Given the description of an element on the screen output the (x, y) to click on. 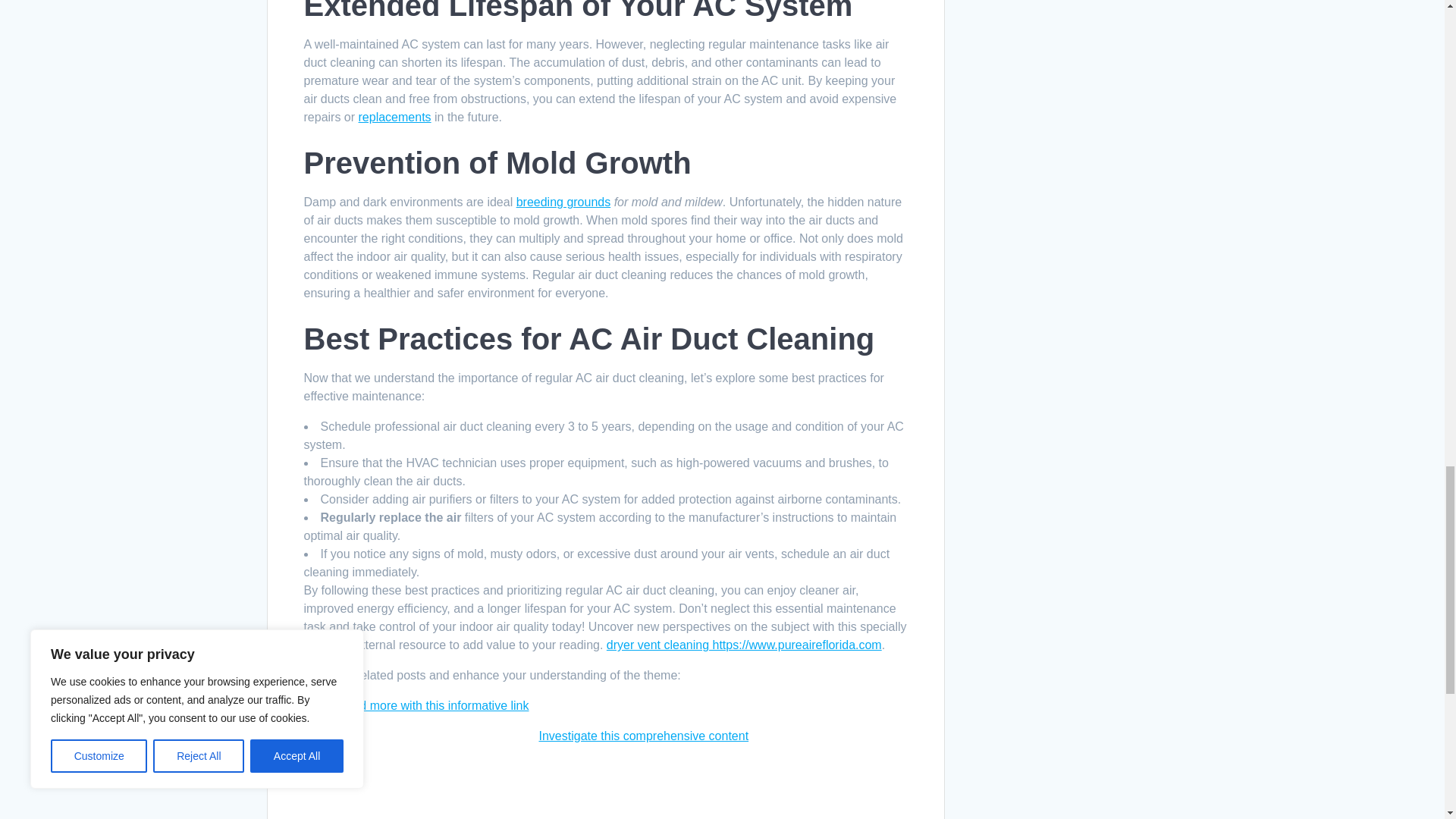
replacements (394, 116)
Investigate this comprehensive content (643, 735)
Understand more with this informative link (415, 705)
breeding grounds (563, 201)
